Given the description of an element on the screen output the (x, y) to click on. 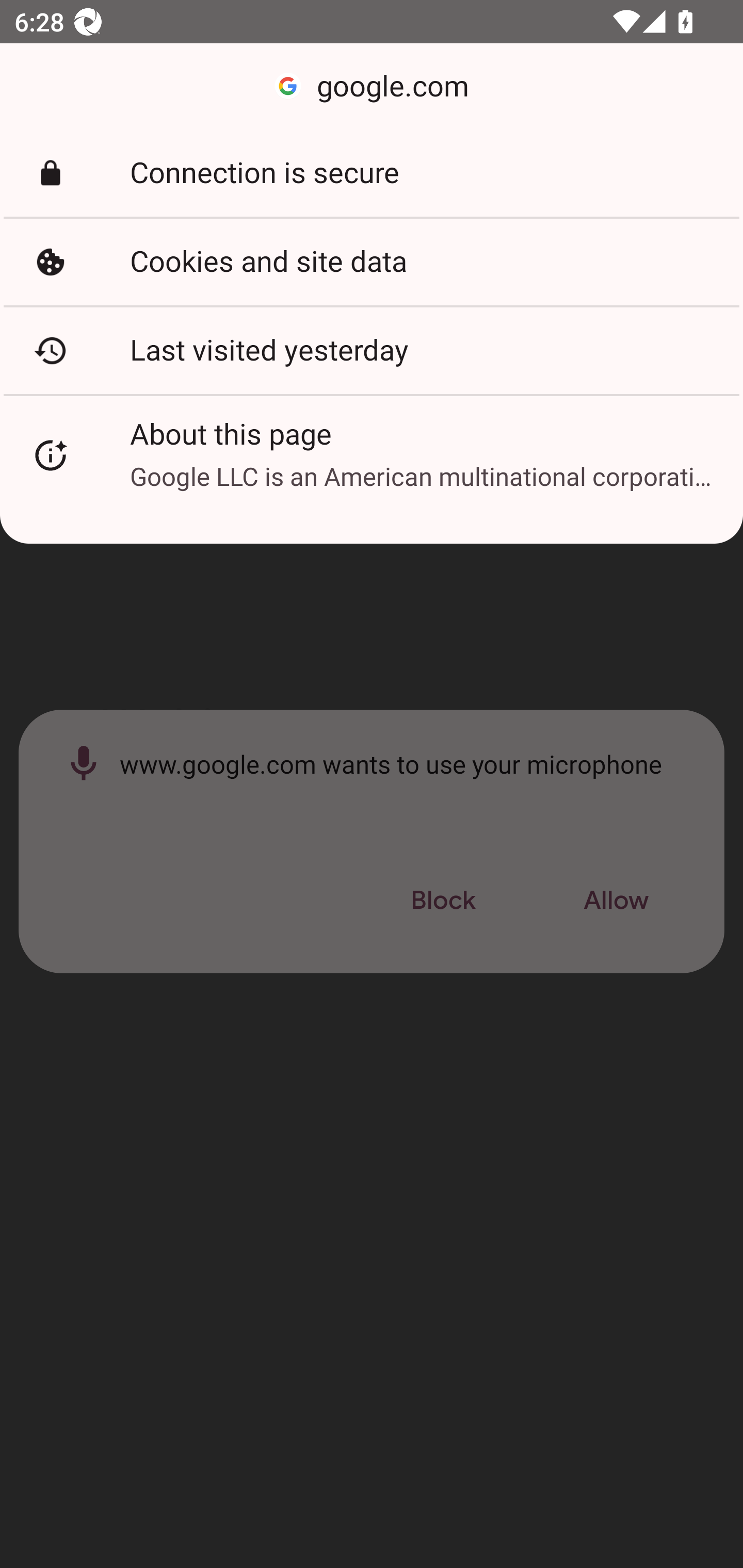
google.com (371, 86)
Connection is secure (371, 173)
Cookies and site data (371, 261)
Last visited yesterday (371, 350)
